Given the description of an element on the screen output the (x, y) to click on. 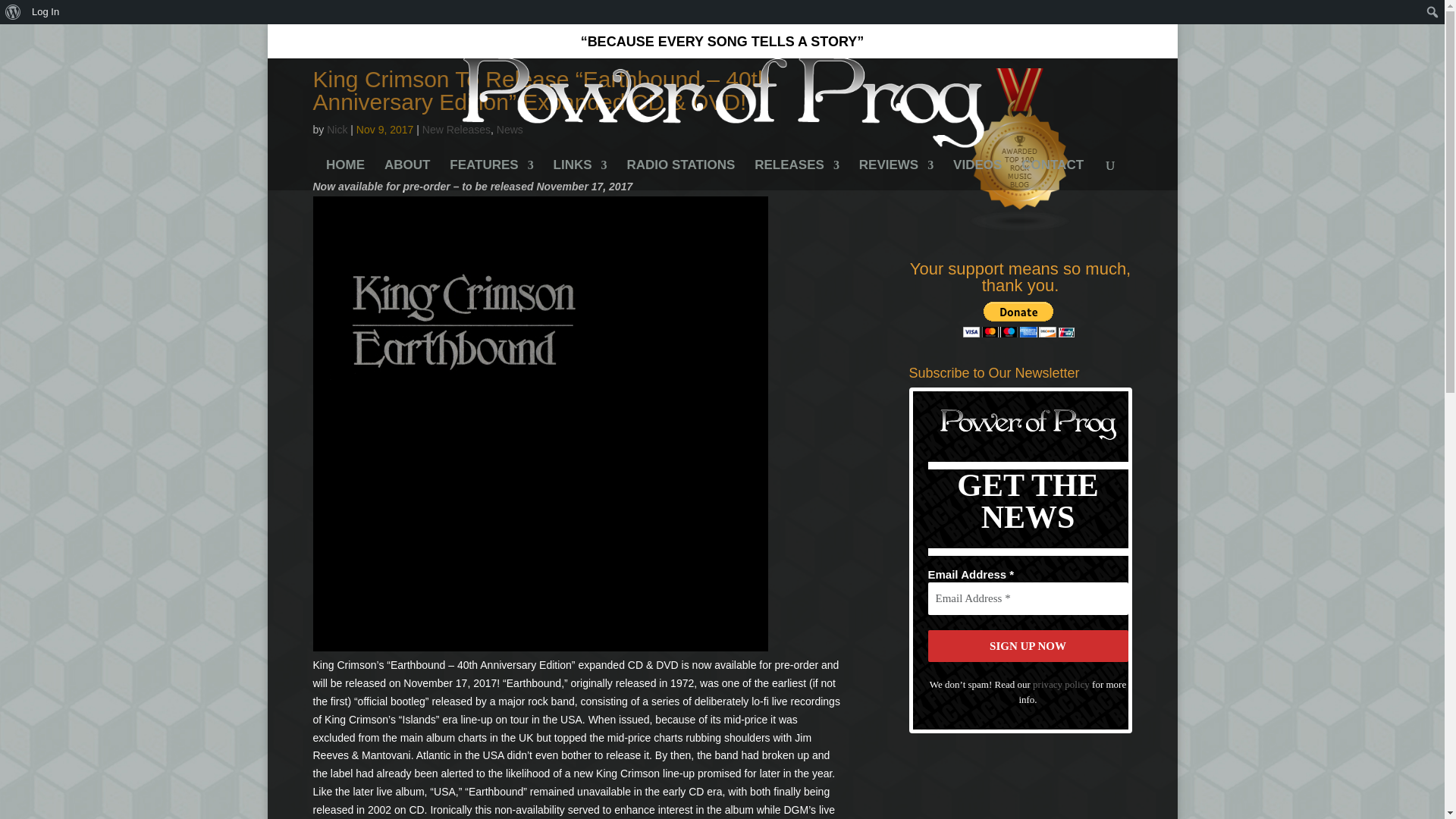
Rock Music blogs (1020, 227)
New Releases (456, 129)
RADIO STATIONS (680, 174)
LINKS (580, 174)
CONTACT (1052, 174)
Search (16, 13)
Log In (45, 12)
FEATURES (490, 174)
HOME (345, 174)
News (509, 129)
